Given the description of an element on the screen output the (x, y) to click on. 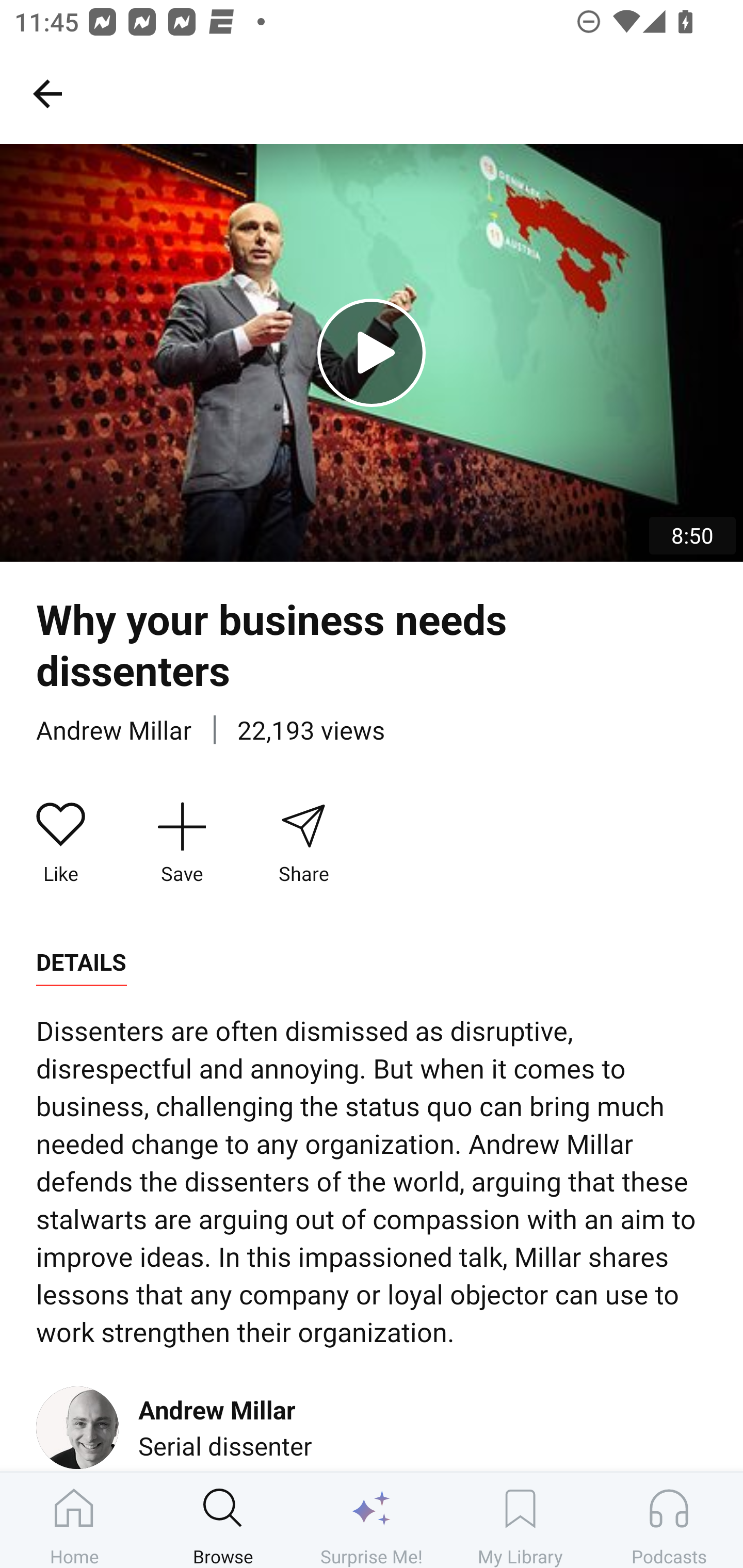
Search, back (47, 92)
Like (60, 843)
Save (181, 843)
Share (302, 843)
DETAILS (80, 962)
Home (74, 1520)
Browse (222, 1520)
Surprise Me! (371, 1520)
My Library (519, 1520)
Podcasts (668, 1520)
